Given the description of an element on the screen output the (x, y) to click on. 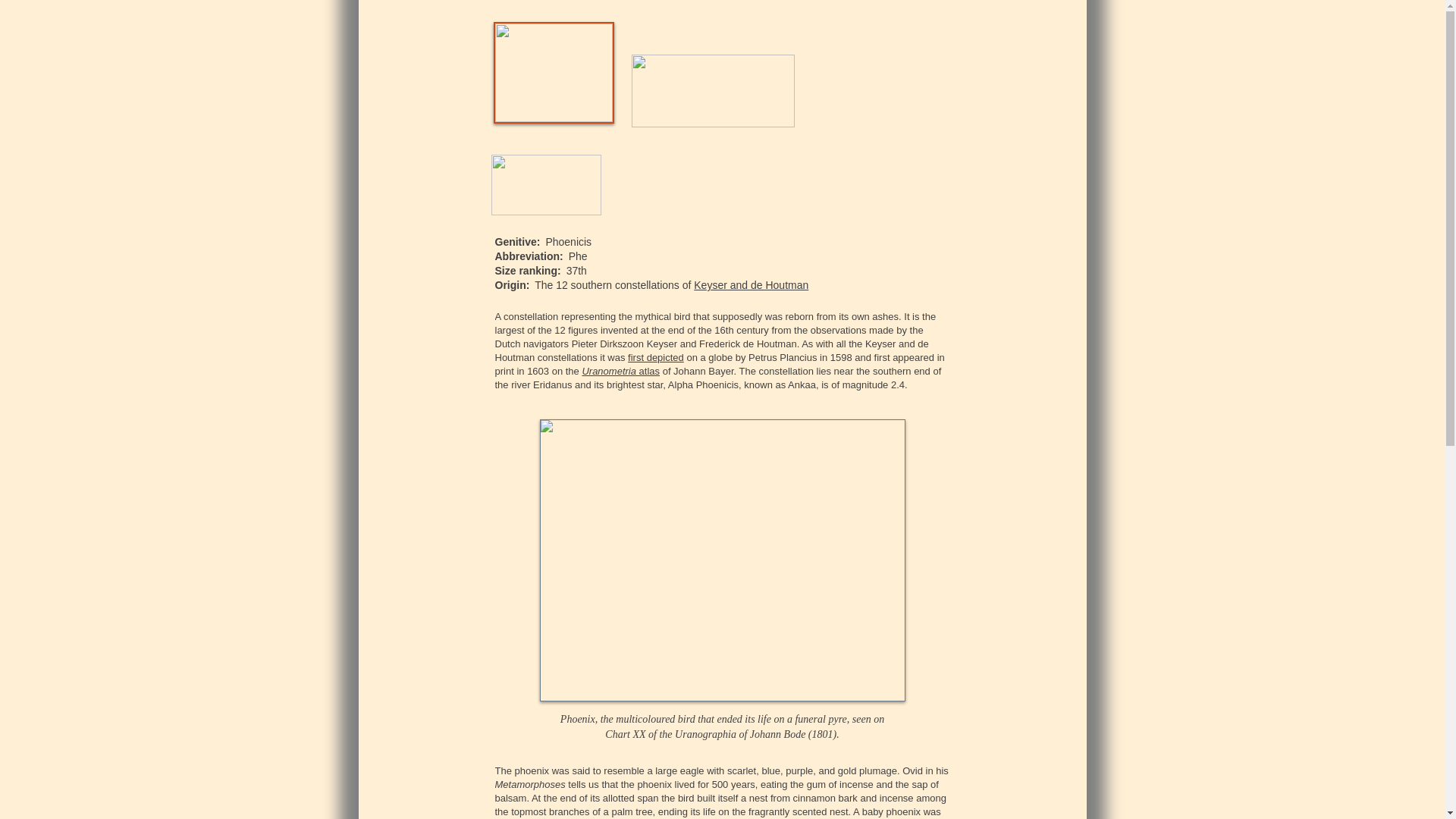
atlas (647, 370)
Uranometria (608, 370)
first depicted (655, 357)
Phoenix Bode (722, 560)
Keyser and de Houtman (751, 285)
